Given the description of an element on the screen output the (x, y) to click on. 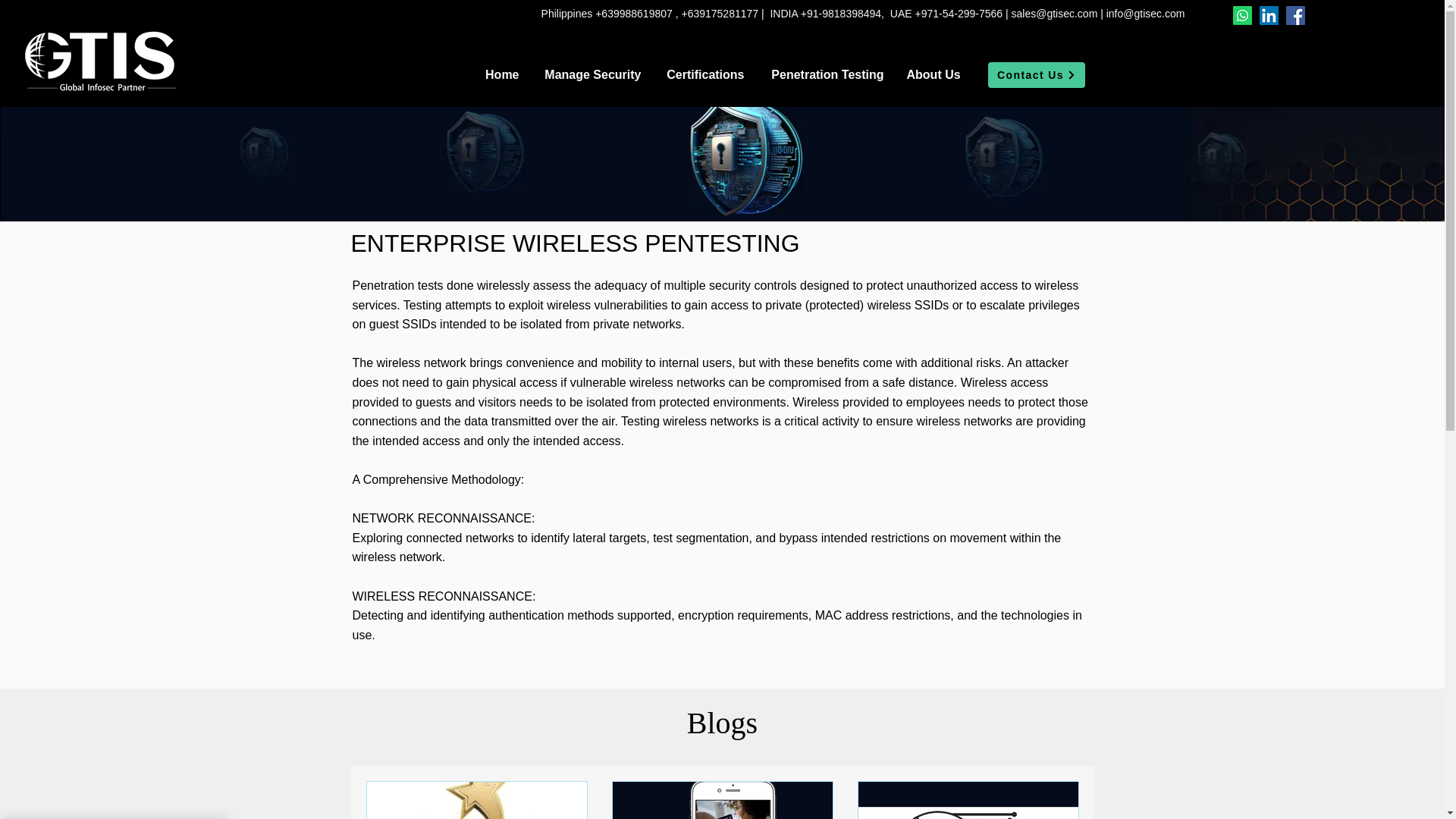
Contact Us (1036, 74)
Manage Security (591, 75)
Certifications (703, 75)
About Us (933, 75)
Penetration Testing (825, 75)
Home (501, 75)
